Given the description of an element on the screen output the (x, y) to click on. 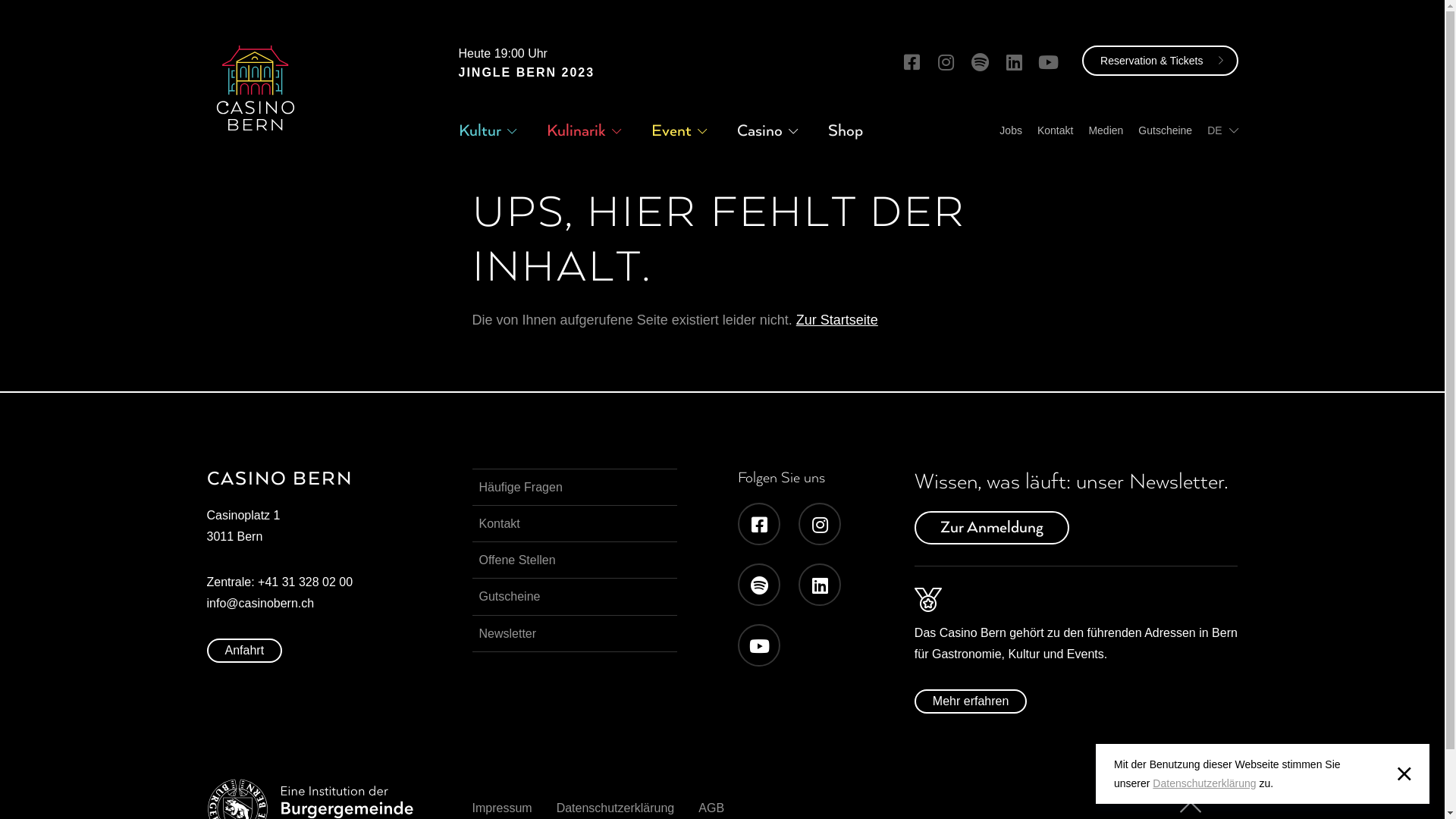
Mehr erfahren Element type: text (970, 701)
Gutscheine Element type: text (573, 596)
Reservation & Tickets Element type: text (1159, 60)
Kultur Element type: text (479, 130)
Kulinarik Element type: text (575, 130)
Newsletter Element type: text (573, 633)
Zur Startseite Element type: text (837, 319)
Kontakt Element type: text (1055, 130)
Casino Element type: text (759, 130)
Medien Element type: text (1105, 130)
Event Element type: text (670, 130)
Offene Stellen Element type: text (573, 559)
info@casinobern.ch Element type: text (259, 602)
Gutscheine Element type: text (1165, 130)
+41 31 328 02 00 Element type: text (304, 581)
Anfahrt Element type: text (244, 650)
Jobs Element type: text (1010, 130)
JINGLE BERN 2023 Element type: text (526, 71)
Zur Anmeldung Element type: text (991, 527)
Kontakt Element type: text (573, 523)
Shop Element type: text (845, 130)
DE Element type: text (1222, 130)
